Given the description of an element on the screen output the (x, y) to click on. 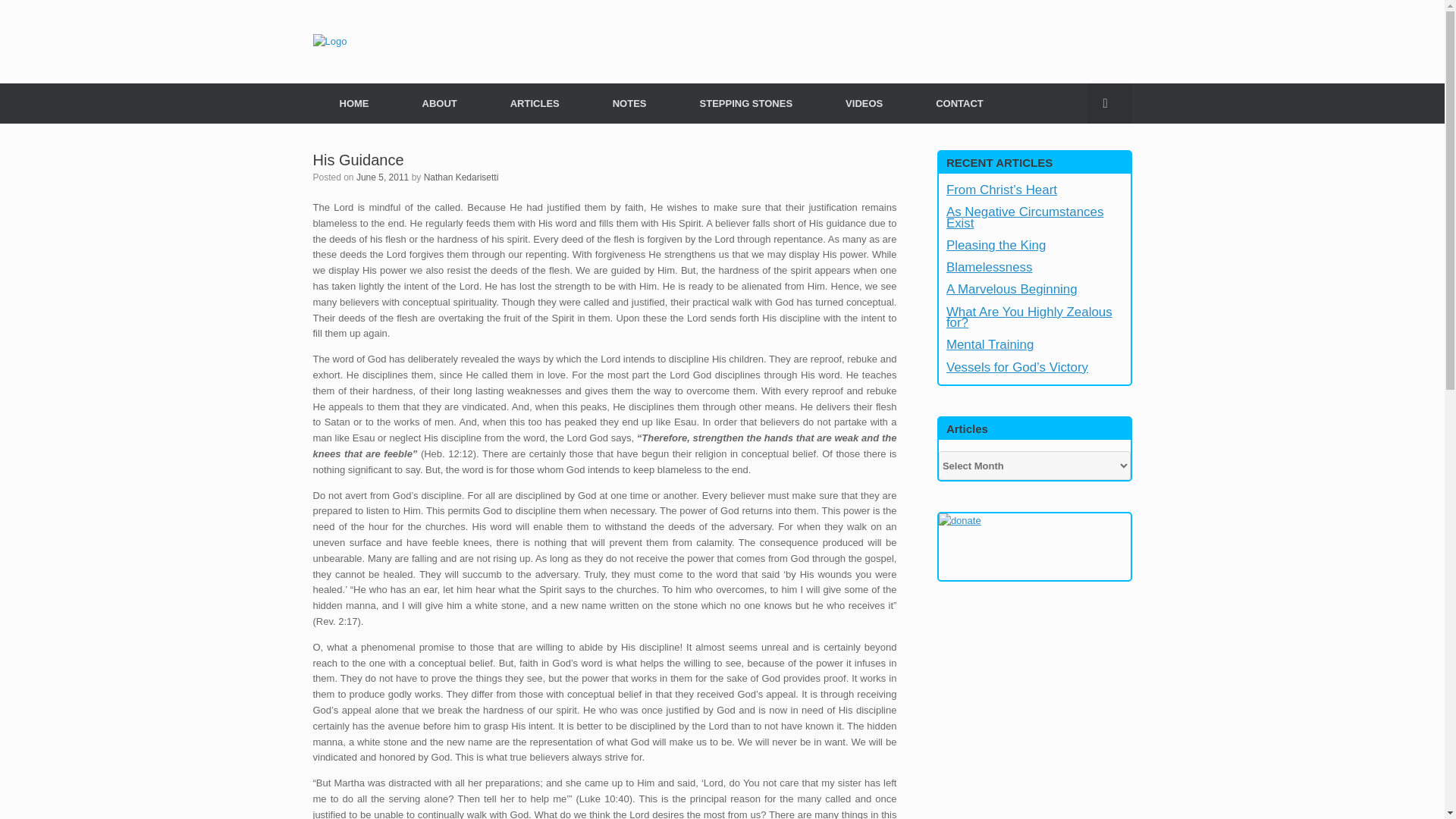
Blamelessness (989, 267)
Nathan Kedarisetti (461, 176)
Pleasing the King (995, 245)
As Negative Circumstances Exist (1024, 217)
As Negative Circumstances Exist (1024, 217)
June 5, 2011 (382, 176)
What Are You Highly Zealous for? (1029, 317)
Pleasing the King (995, 245)
Mental Training (989, 344)
ABOUT (439, 103)
